Given the description of an element on the screen output the (x, y) to click on. 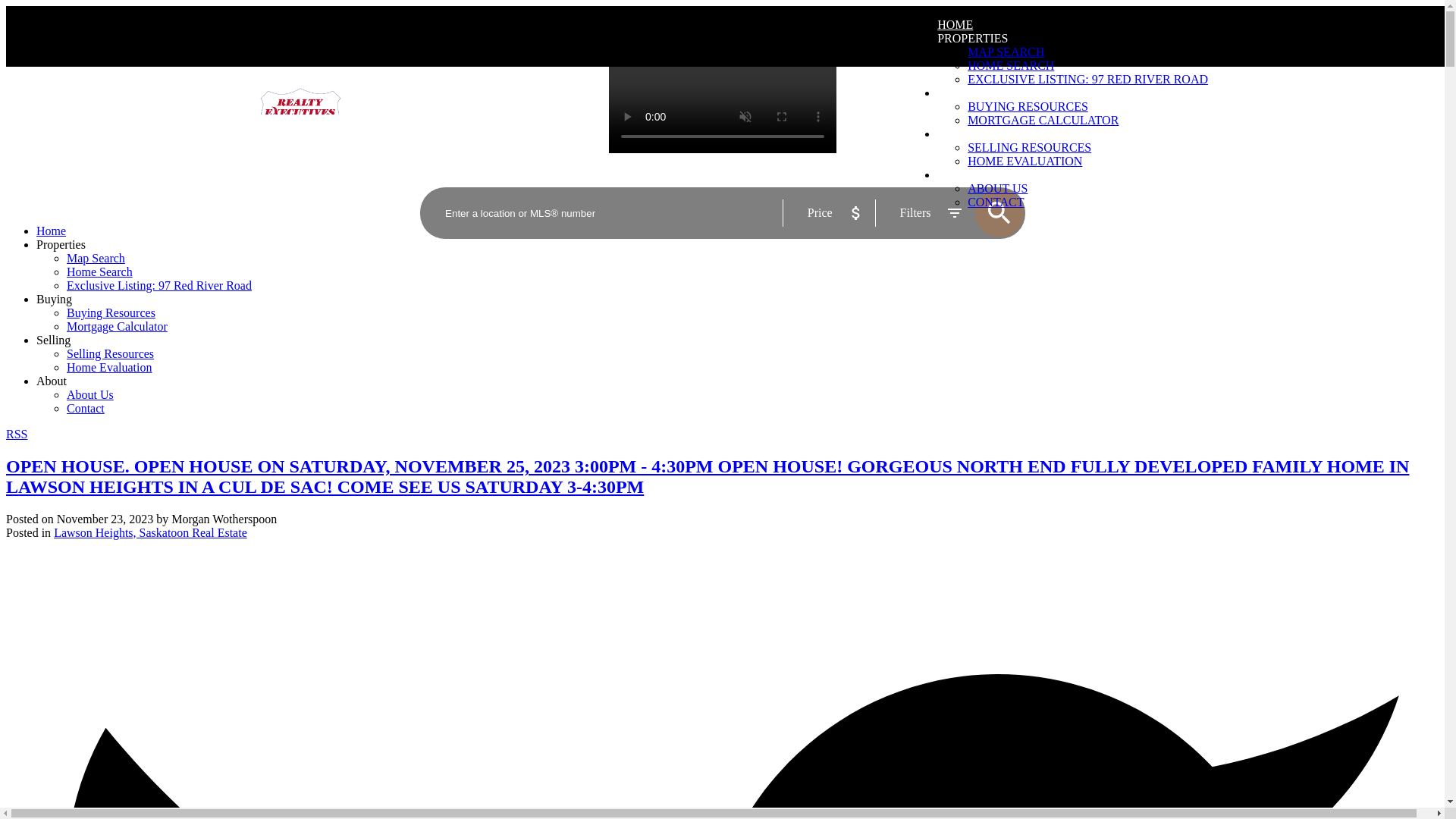
Map Search (95, 257)
ABOUT US (997, 187)
RSS (16, 433)
Home Search (99, 271)
Lawson Heights, Saskatoon Real Estate (150, 532)
HOME EVALUATION (1024, 160)
MAP SEARCH (1005, 51)
Selling Resources (110, 353)
SELLING RESOURCES (1029, 146)
Home (50, 230)
